Given the description of an element on the screen output the (x, y) to click on. 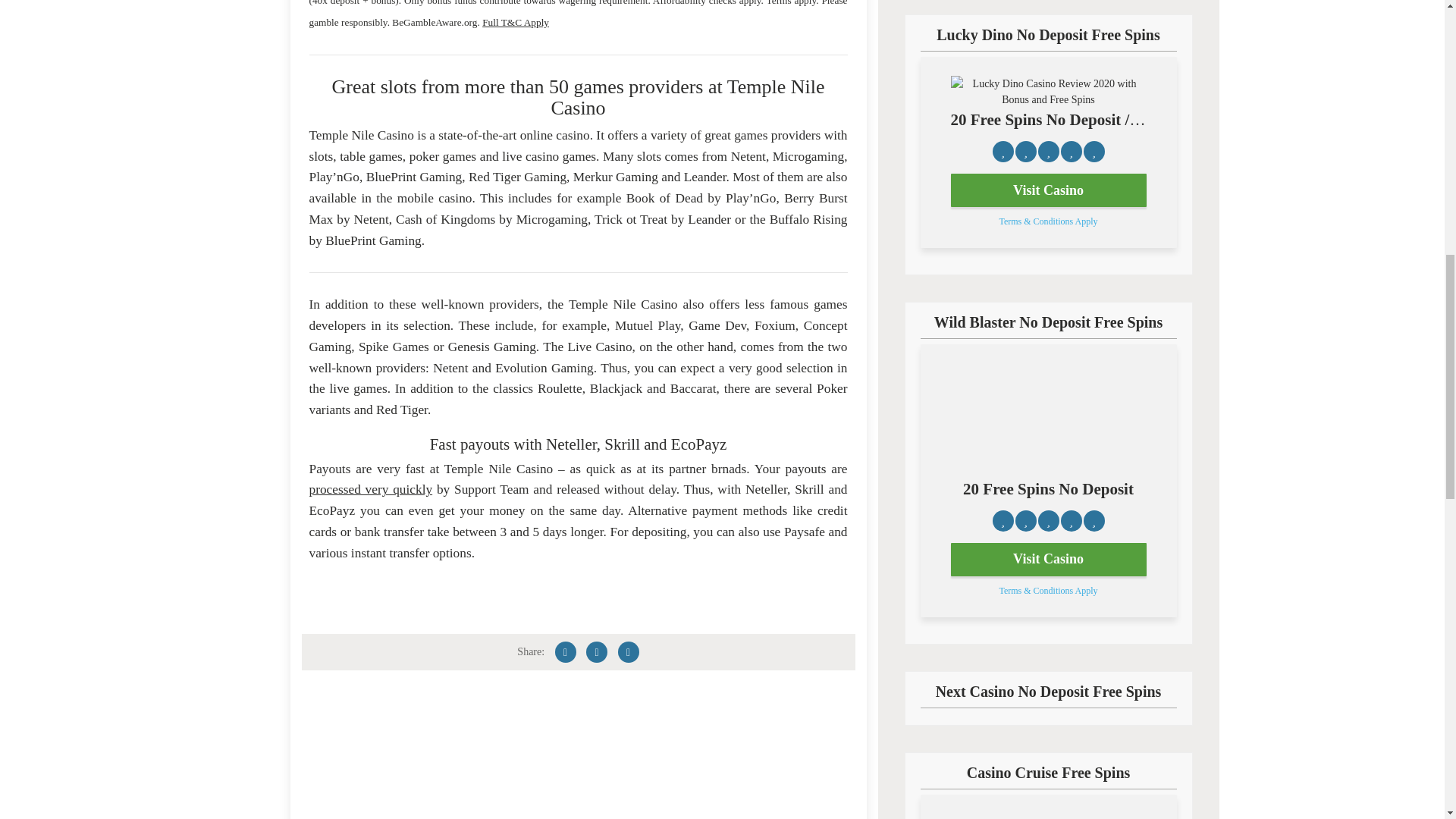
Visit Casino (1048, 190)
Visit Casino (1048, 559)
processed very quickly (370, 489)
